Given the description of an element on the screen output the (x, y) to click on. 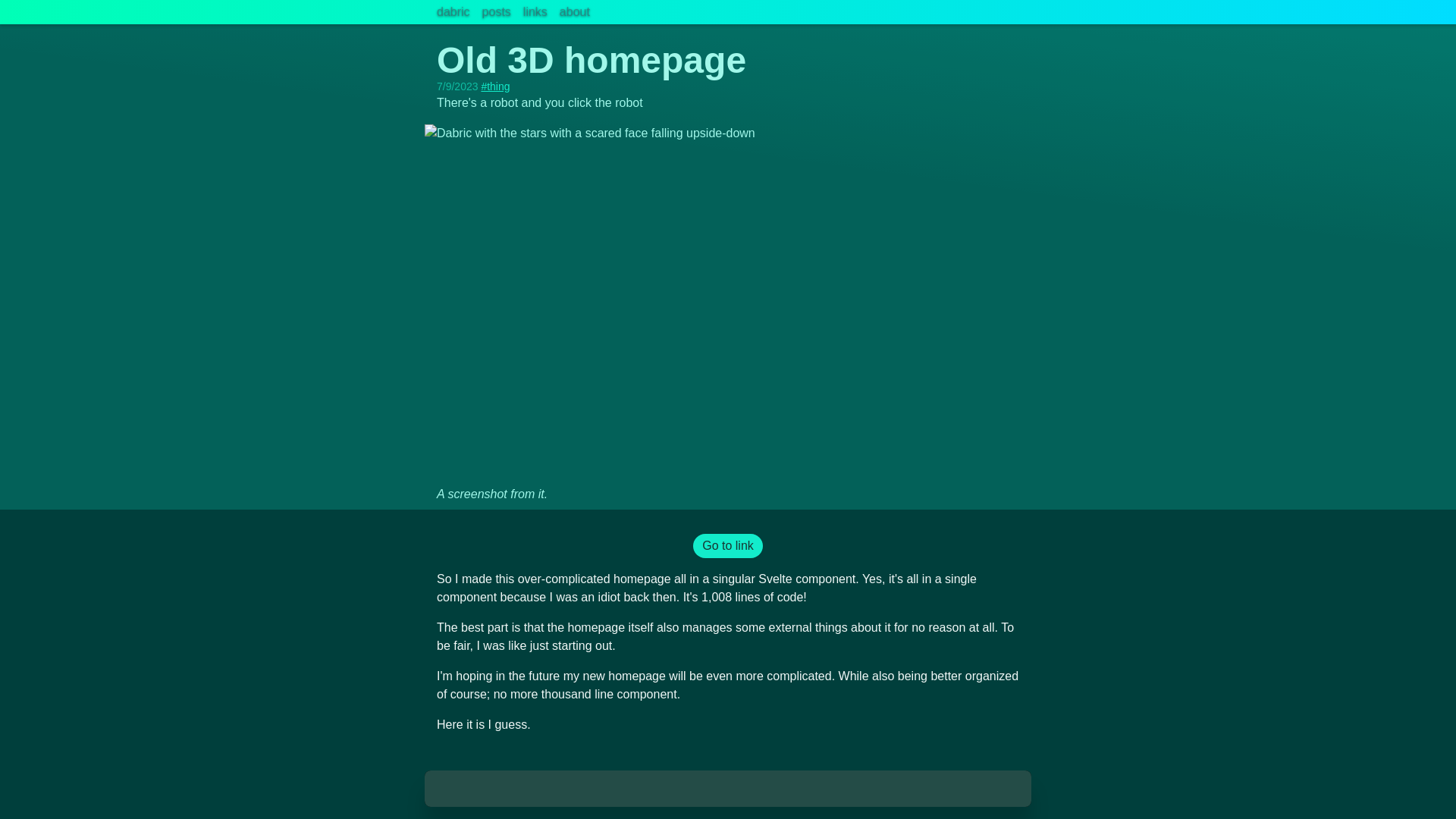
Go to link (727, 545)
dabric (453, 12)
links (534, 12)
posts (496, 12)
about (574, 12)
